Given the description of an element on the screen output the (x, y) to click on. 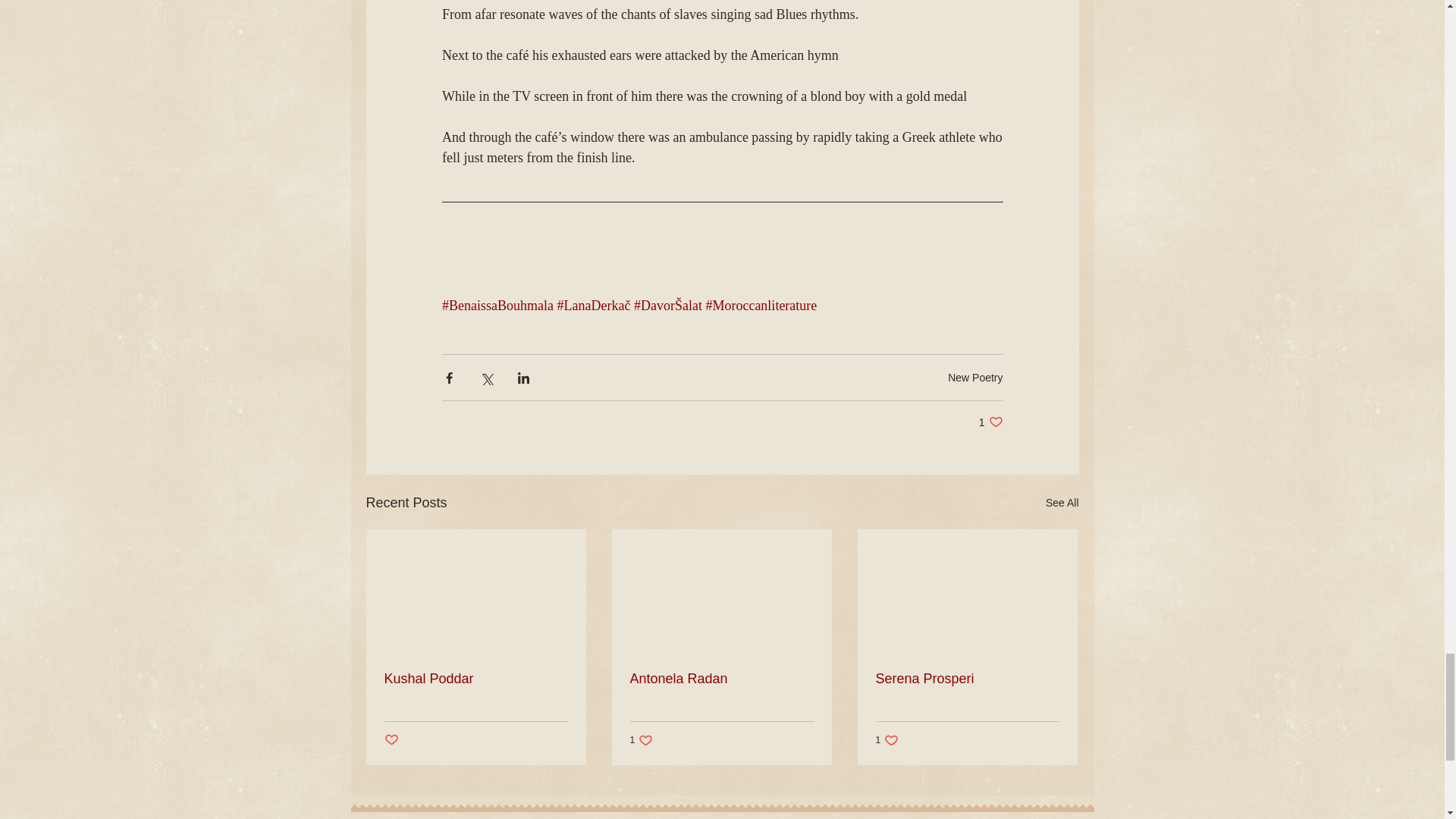
See All (990, 421)
New Poetry (1061, 503)
Post not marked as liked (975, 377)
Kushal Poddar (390, 740)
